Given the description of an element on the screen output the (x, y) to click on. 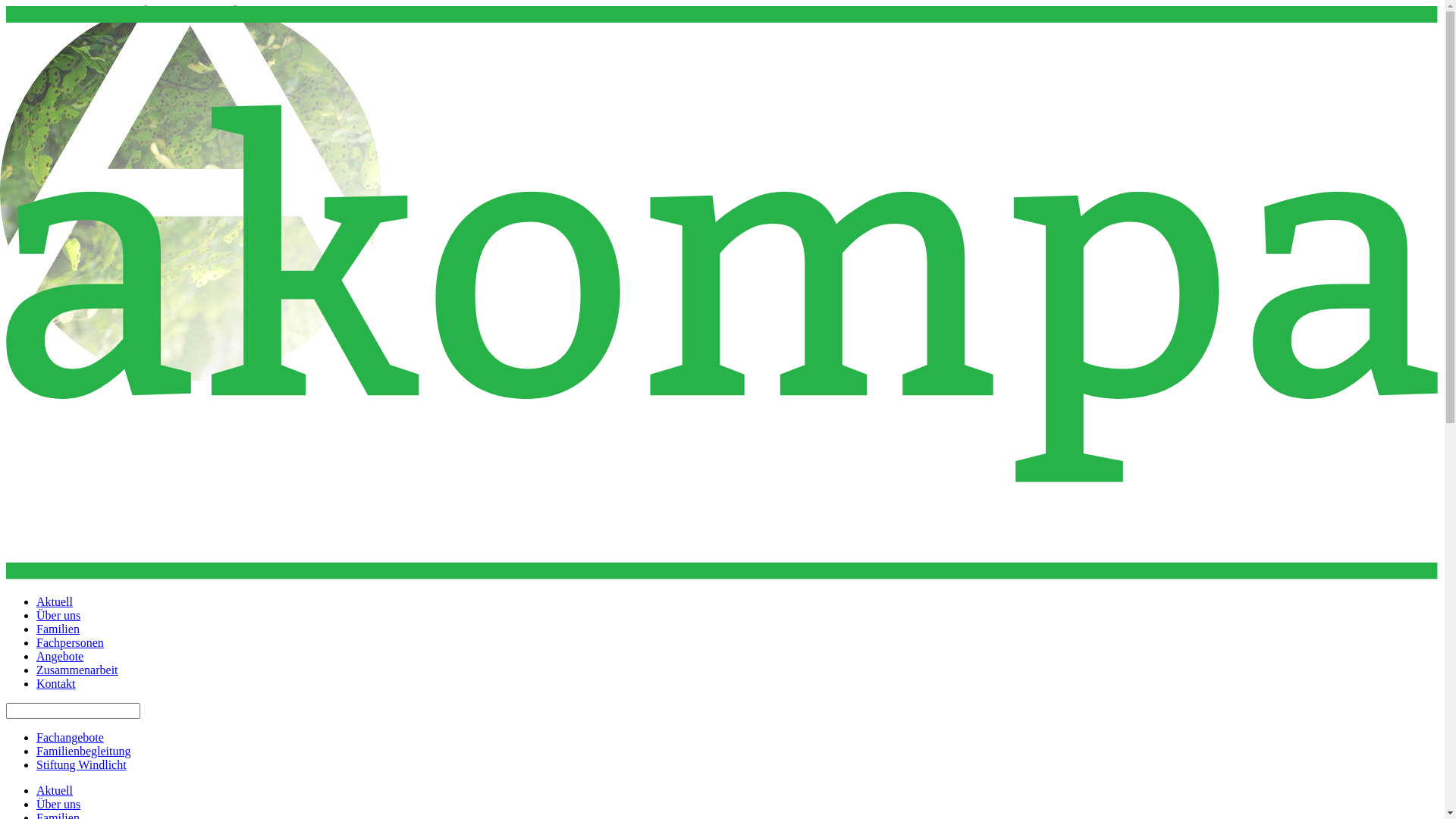
Stiftung Windlicht Element type: text (81, 764)
Zusammenarbeit Element type: text (77, 669)
Kontakt Element type: text (55, 683)
Suchen Element type: text (23, 7)
Angebote Element type: text (59, 655)
Aktuell Element type: text (54, 601)
Fachpersonen Element type: text (69, 642)
Familienbegleitung Element type: text (83, 750)
Fachangebote Element type: text (69, 737)
Familien Element type: text (57, 628)
Aktuell Element type: text (54, 790)
